Given the description of an element on the screen output the (x, y) to click on. 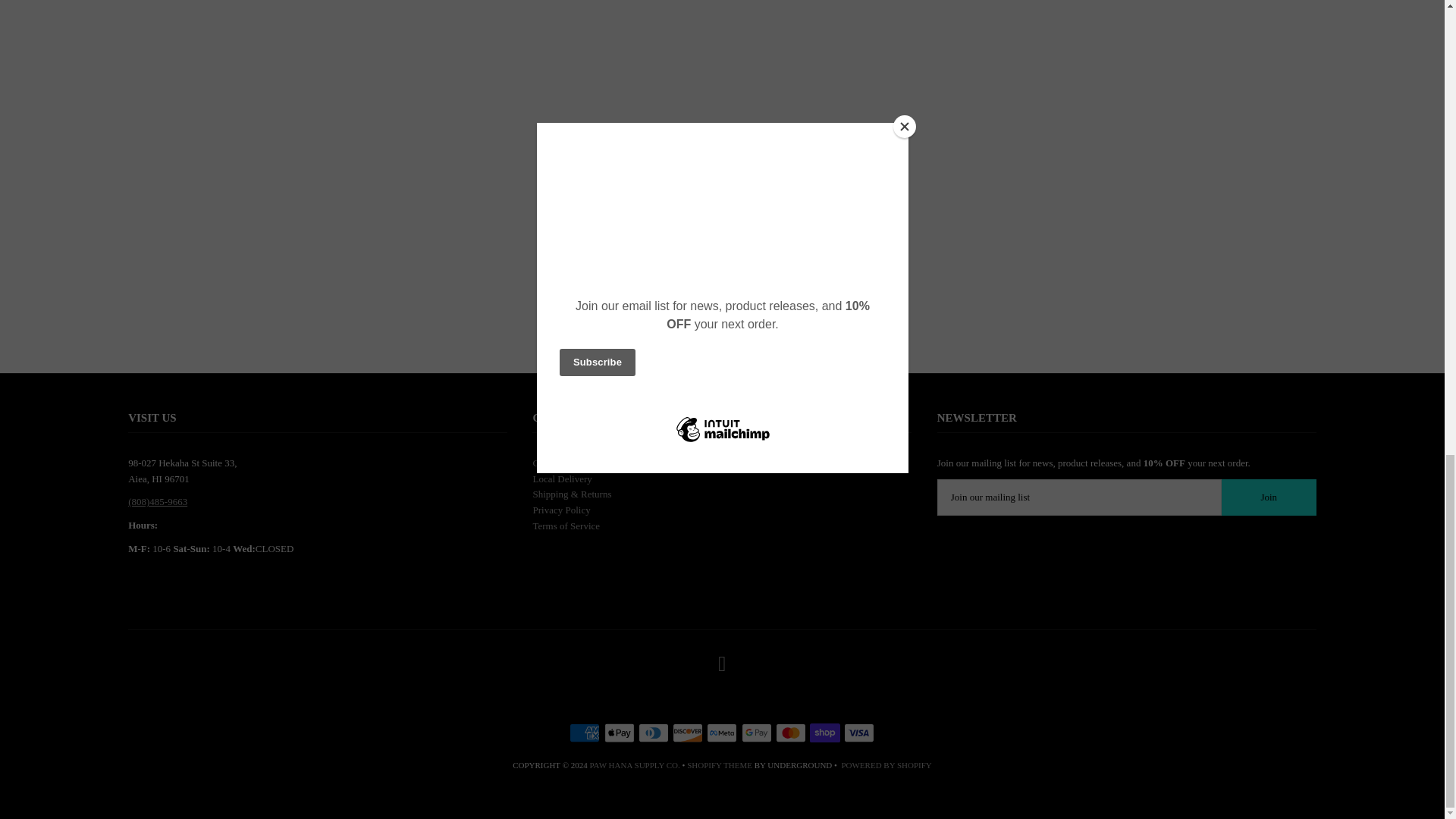
Shopify theme (719, 764)
Terms of Service (565, 525)
Shop Pay (824, 732)
Google Pay (756, 732)
Meta Pay (721, 732)
Privacy Policy (560, 509)
American Express (584, 732)
Mastercard (791, 732)
Local Delivery (561, 478)
Join (1268, 497)
Contact (547, 462)
Diners Club (653, 732)
Discover (687, 732)
Apple Pay (619, 732)
Join (1268, 497)
